Given the description of an element on the screen output the (x, y) to click on. 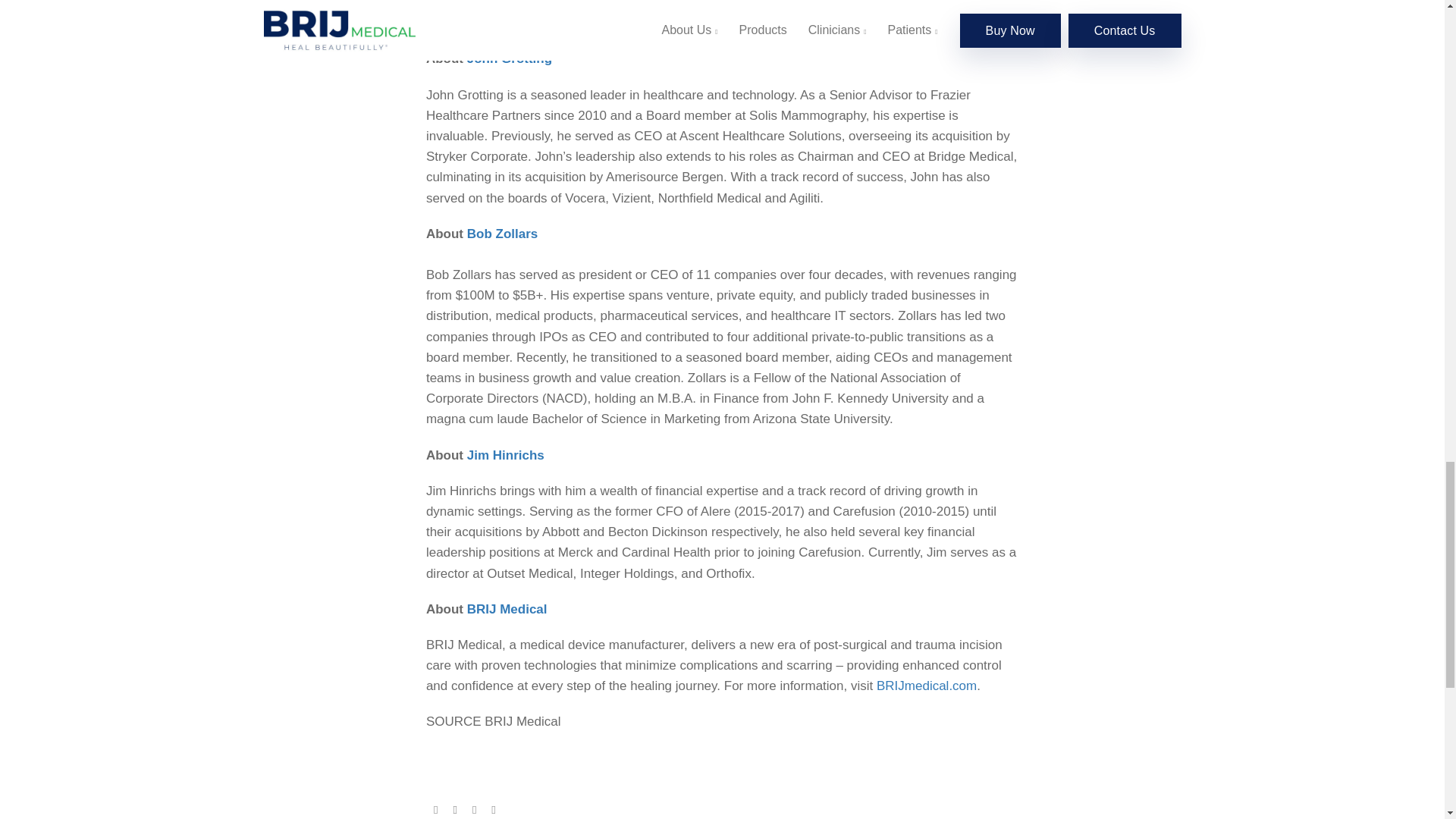
BRIJ Medical (507, 608)
BRIJmedical.com (926, 685)
Jim Hinrichs (505, 454)
Bob Zollars (502, 233)
John Grotting (509, 58)
